Given the description of an element on the screen output the (x, y) to click on. 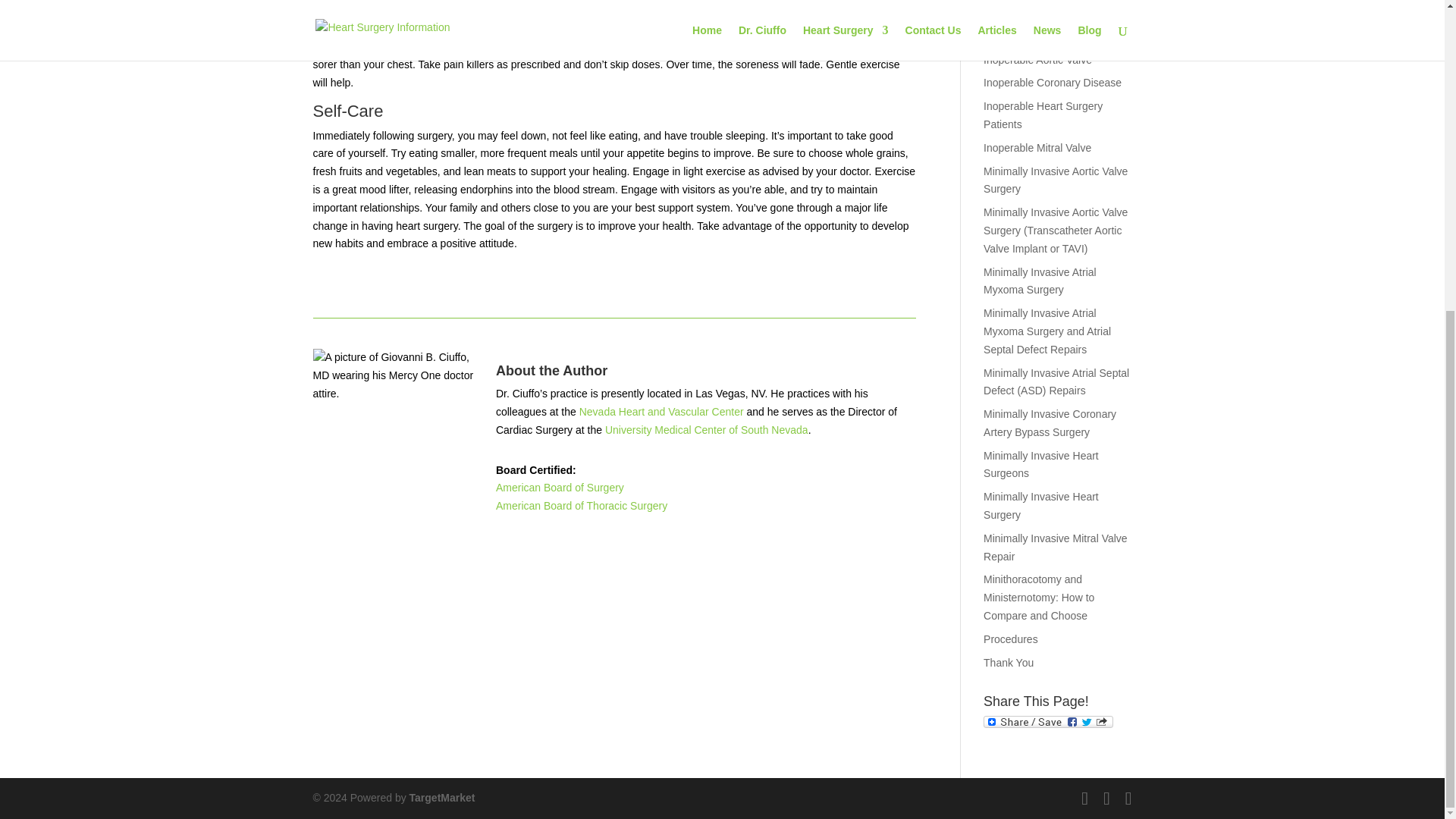
Inoperable Mitral Valve (1037, 147)
Minimally Invasive Atrial Myxoma Surgery (1040, 281)
University Medical Center of South Nevada (706, 429)
Nevada Heart and Vascular Center (661, 411)
American Board of Surgery (560, 487)
Inoperable Coronary Disease (1052, 82)
Inoperable Heart Surgery Patients (1043, 114)
bypass (604, 46)
Inoperable Aortic Aneurysms (1051, 36)
Minimally Invasive Aortic Valve Surgery (1055, 180)
